Given the description of an element on the screen output the (x, y) to click on. 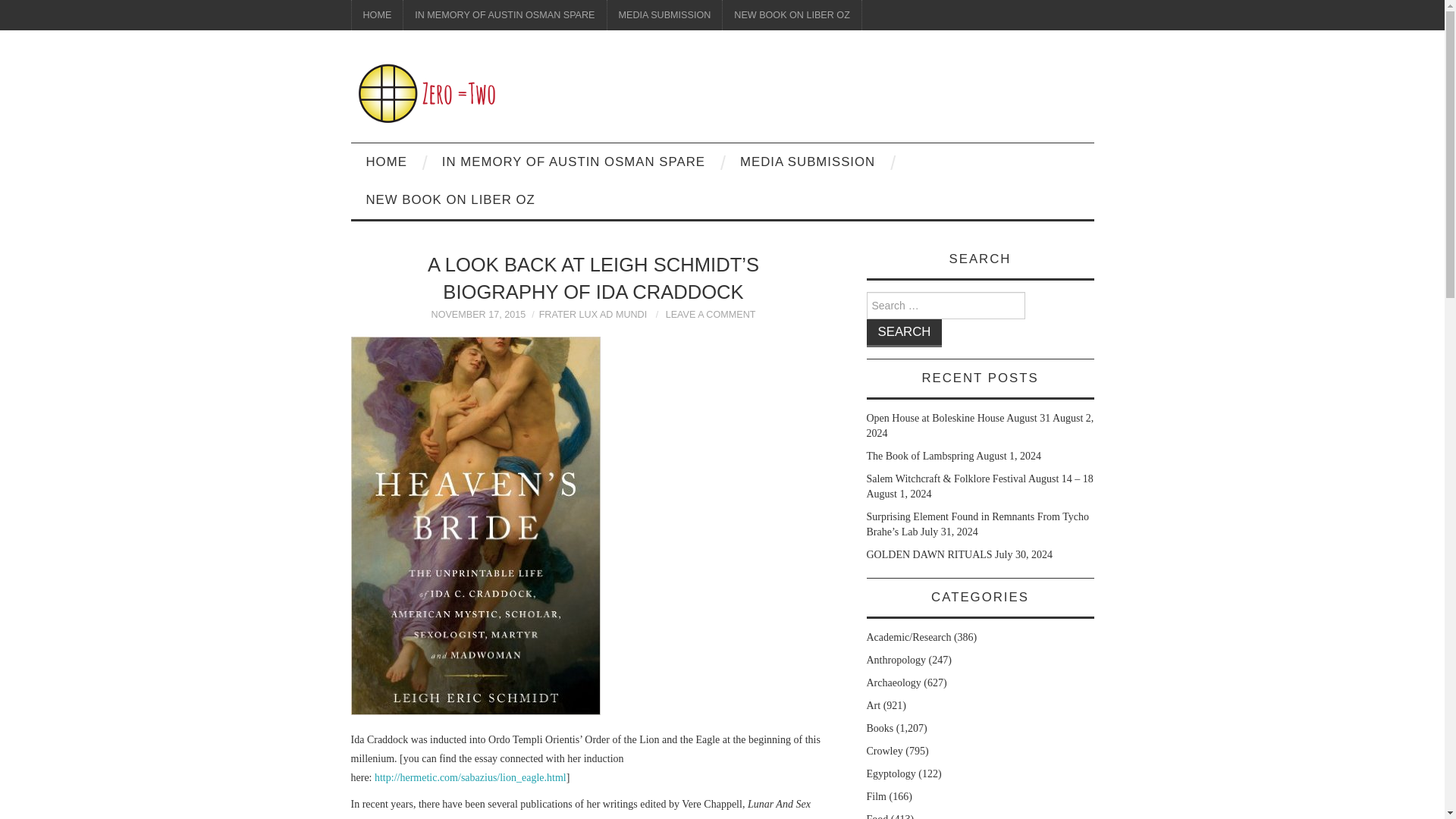
LEAVE A COMMENT (710, 314)
Food (877, 816)
IN MEMORY OF AUSTIN OSMAN SPARE (504, 15)
Search (904, 333)
GOLDEN DAWN RITUALS (928, 554)
Art (873, 705)
FRATER LUX AD MUNDI (592, 314)
NEW BOOK ON LIBER OZ (450, 199)
Books (879, 727)
Egyptology (890, 773)
Zero Equals Two! (426, 92)
IN MEMORY OF AUSTIN OSMAN SPARE (573, 161)
Search (904, 333)
NOVEMBER 17, 2015 (477, 314)
HOME (377, 15)
